Given the description of an element on the screen output the (x, y) to click on. 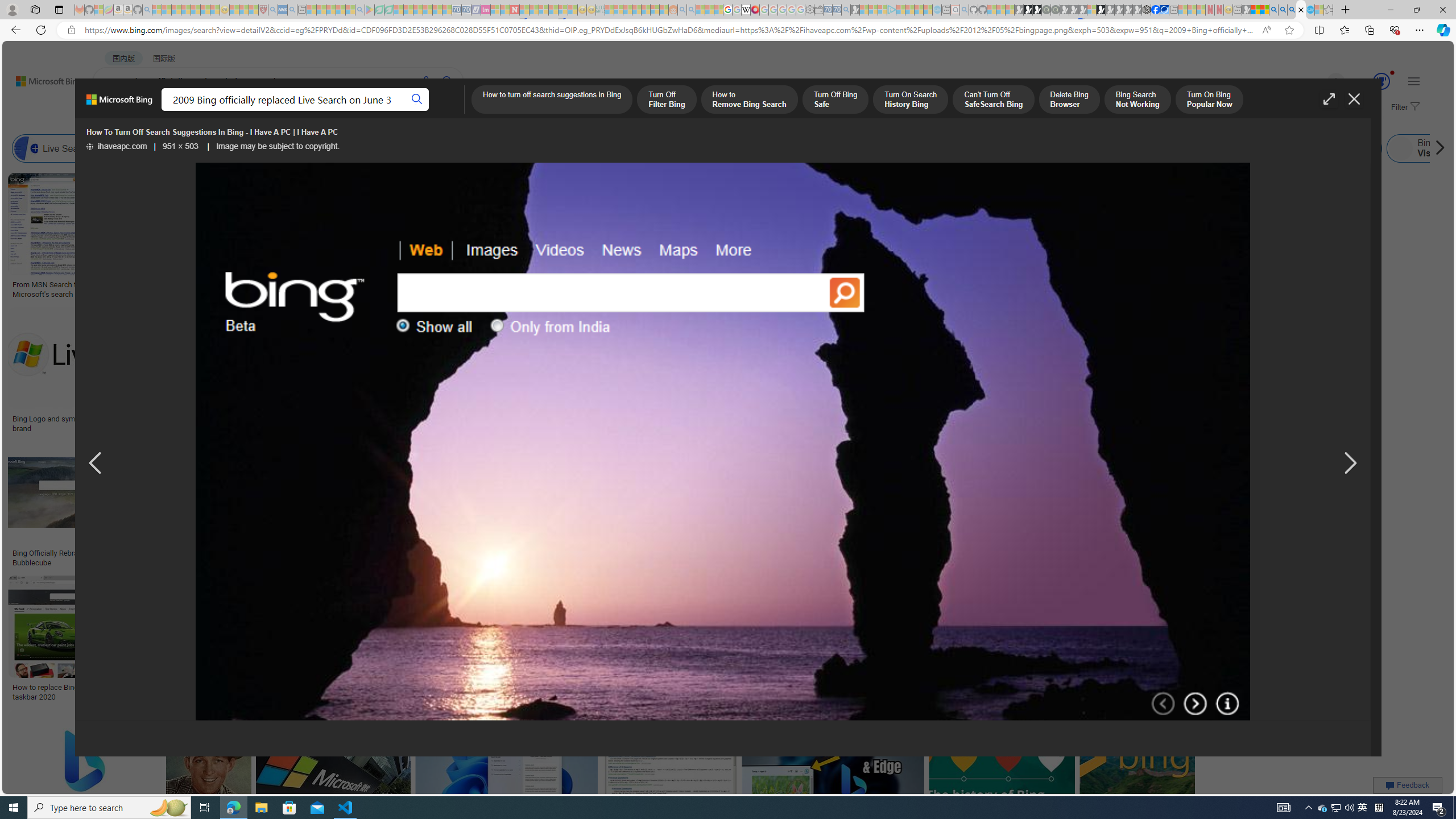
Back to Bing search (41, 78)
Settings and quick links (1413, 80)
How to replace Bing in Windows 10 search on the taskbar 2020 (93, 691)
Bing Logo, symbol, meaning, history, PNG, brand (1124, 289)
Microsoft Live LogoSave (421, 237)
Bing Picture Search Engine (280, 148)
Turn On Search History Bing (909, 100)
